Given the description of an element on the screen output the (x, y) to click on. 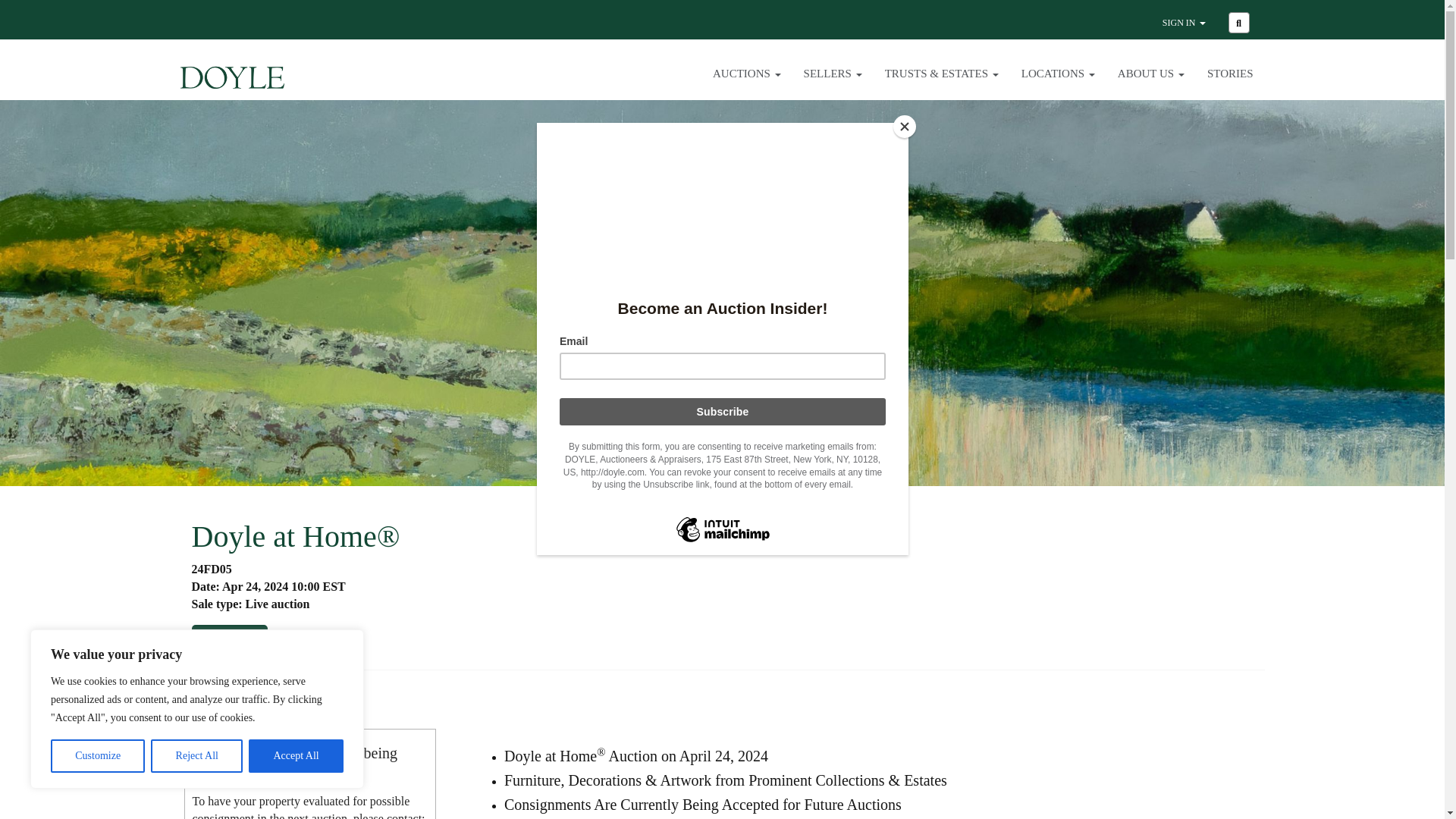
Reject All (197, 756)
Customize (97, 756)
AUCTIONS (746, 86)
SIGN IN (1184, 25)
SELLERS (832, 86)
Accept All (295, 756)
